Given the description of an element on the screen output the (x, y) to click on. 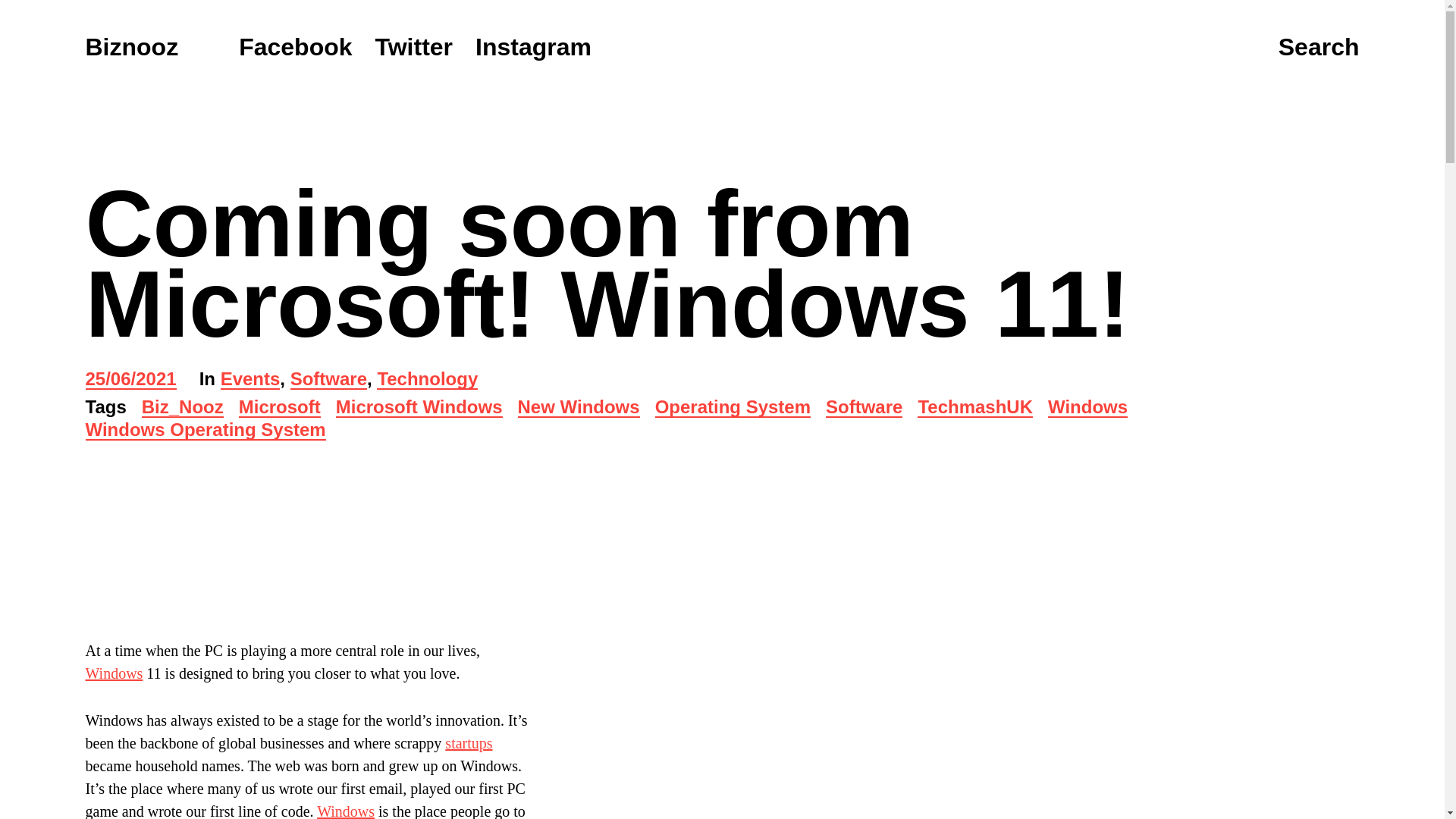
Windows Operating System (204, 430)
Biznooz (130, 47)
Microsoft Windows (419, 407)
Facebook (295, 47)
Windows (345, 811)
Software (327, 380)
Twitter (413, 47)
Search (1318, 47)
Windows (1087, 407)
Instagram (533, 47)
